Given the description of an element on the screen output the (x, y) to click on. 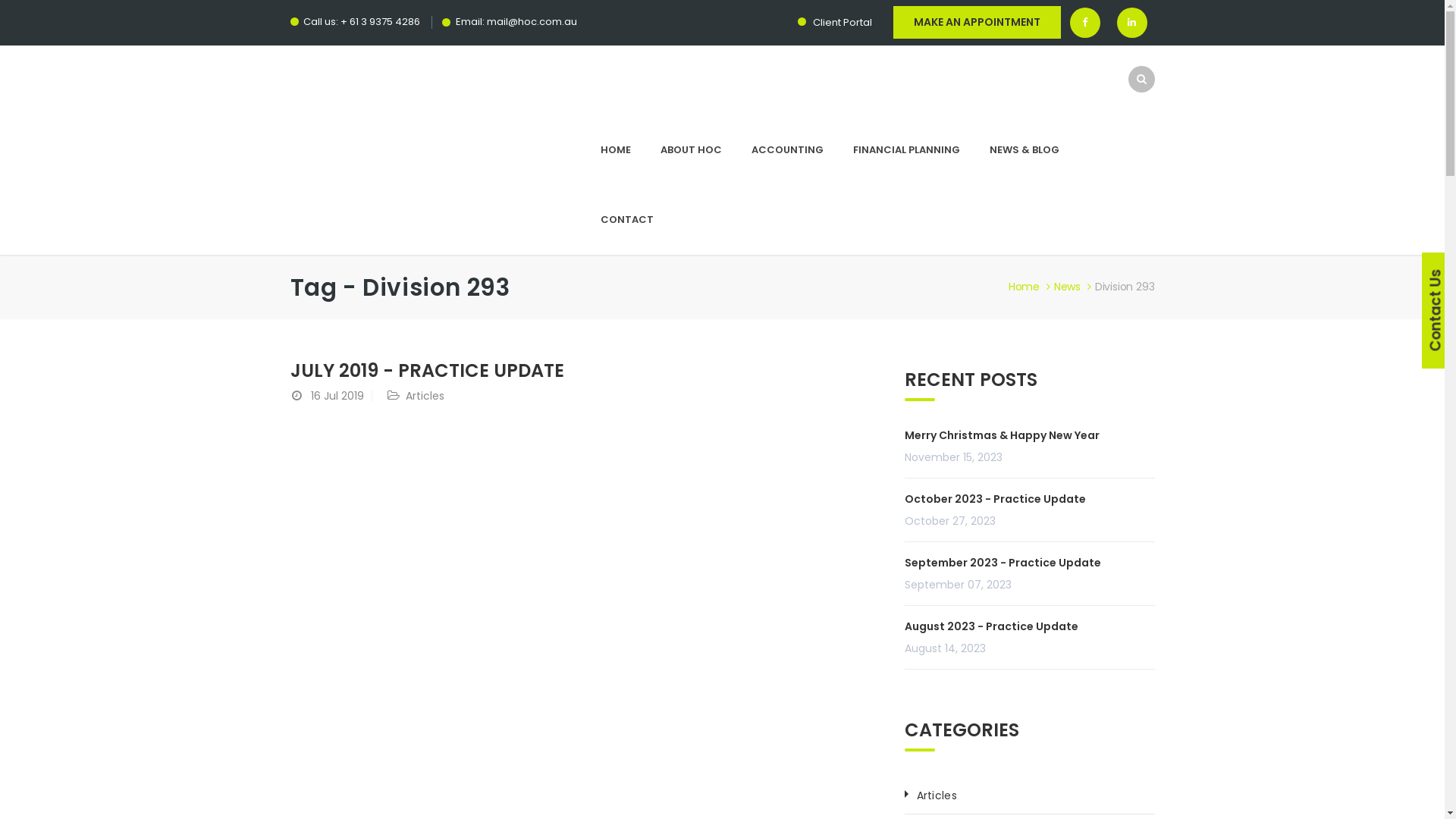
Articles Element type: text (423, 395)
MAKE AN APPOINTMENT Element type: text (976, 22)
CONTACT Element type: text (626, 219)
NEWS & BLOG Element type: text (1024, 150)
JULY 2019 - PRACTICE UPDATE Element type: text (426, 369)
16 Jul 2019 Element type: text (337, 395)
Home Element type: text (1031, 286)
+ 61 3 9375 4286 Element type: text (379, 21)
Client Portal Element type: text (834, 22)
October 2023 - Practice Update Element type: text (994, 498)
September 2023 - Practice Update Element type: text (1001, 562)
Division 293 Element type: text (1124, 286)
Merry Christmas & Happy New Year Element type: text (1000, 434)
FINANCIAL PLANNING Element type: text (906, 150)
ABOUT HOC Element type: text (691, 150)
ACCOUNTING Element type: text (787, 150)
Articles Element type: text (936, 795)
August 2023 - Practice Update Element type: text (990, 625)
HOME Element type: text (615, 150)
News Element type: text (1074, 286)
mail@hoc.com.au Element type: text (531, 21)
